Given the description of an element on the screen output the (x, y) to click on. 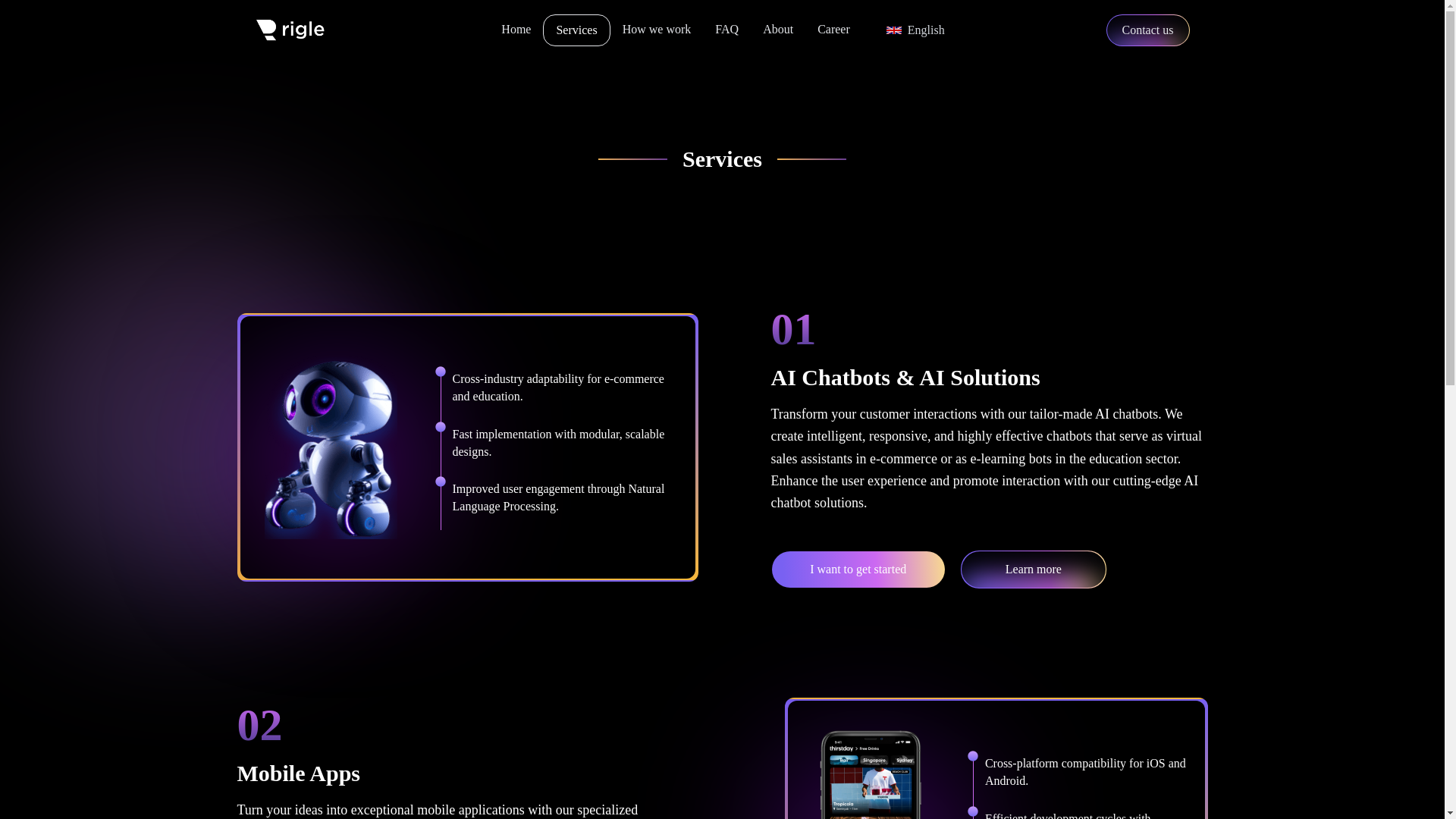
Career (833, 29)
How we work (656, 29)
FAQ (727, 29)
Services (576, 29)
English (915, 29)
I want to get started (857, 569)
Home (516, 29)
About (778, 29)
Learn more (1033, 569)
Contact us (1147, 29)
